Given the description of an element on the screen output the (x, y) to click on. 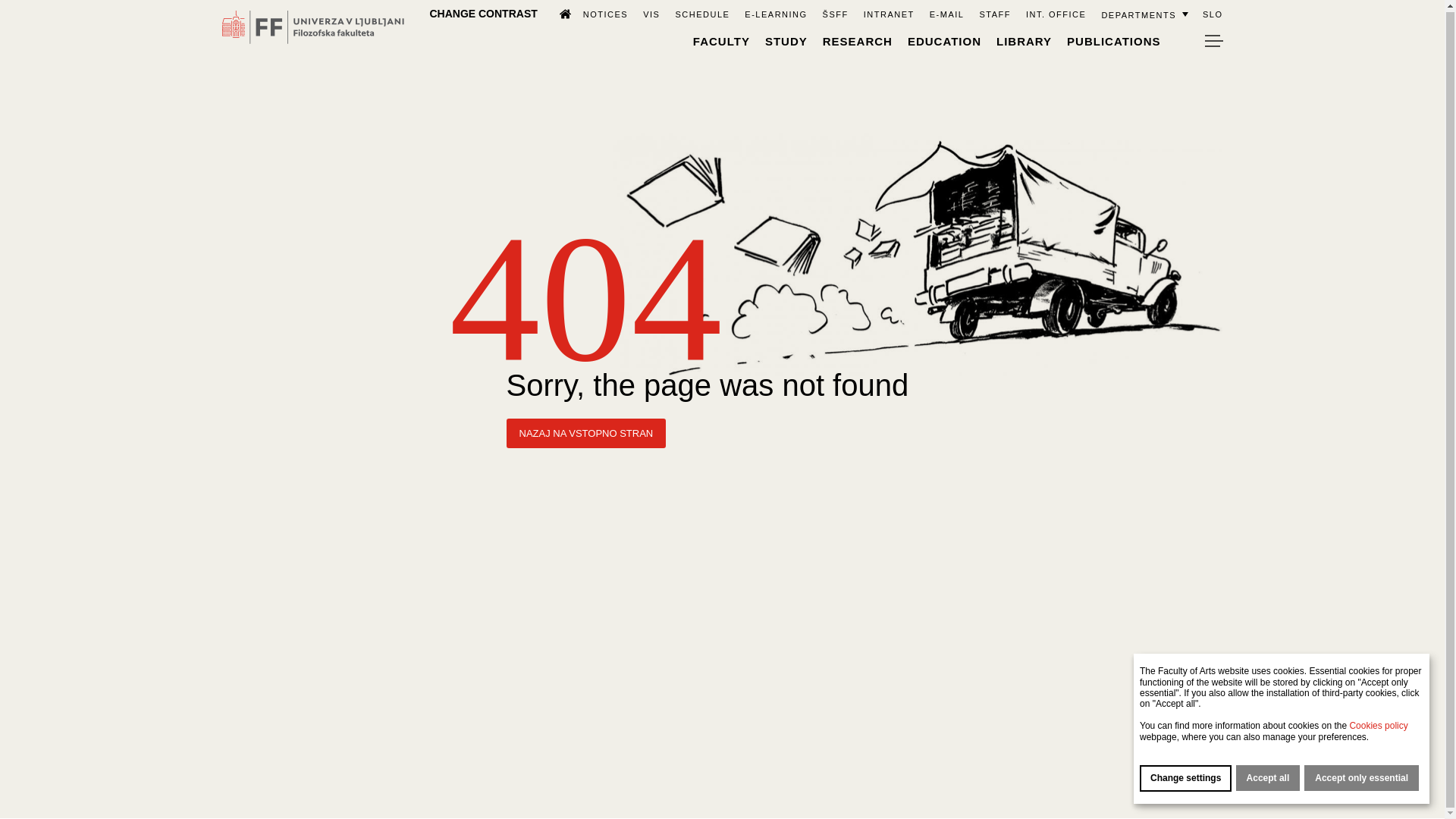
SCHEDULE (702, 13)
SLO (1212, 13)
HOME (558, 12)
STAFF (994, 13)
STUDY (786, 40)
Home (558, 12)
Zaposleni (994, 13)
International Office (1056, 13)
E-LEARNING (775, 13)
E-MAIL (946, 13)
